Given the description of an element on the screen output the (x, y) to click on. 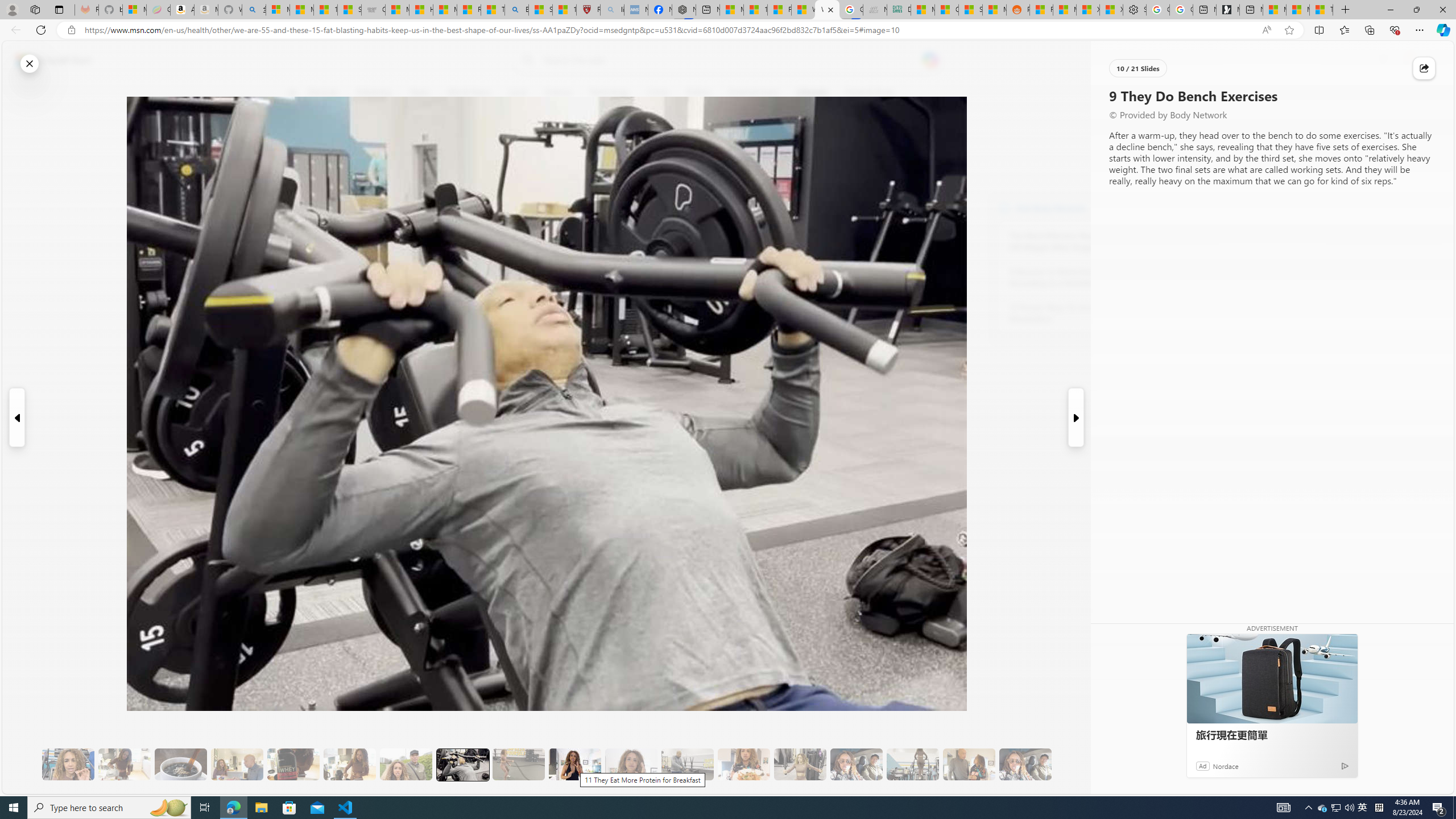
Fitness - MSN (779, 9)
Class: at-item immersive (1423, 68)
19 It Also Simplifies Thiings (1024, 764)
5 She Eats Less Than Her Husband (237, 764)
6 Like (299, 138)
